Given the description of an element on the screen output the (x, y) to click on. 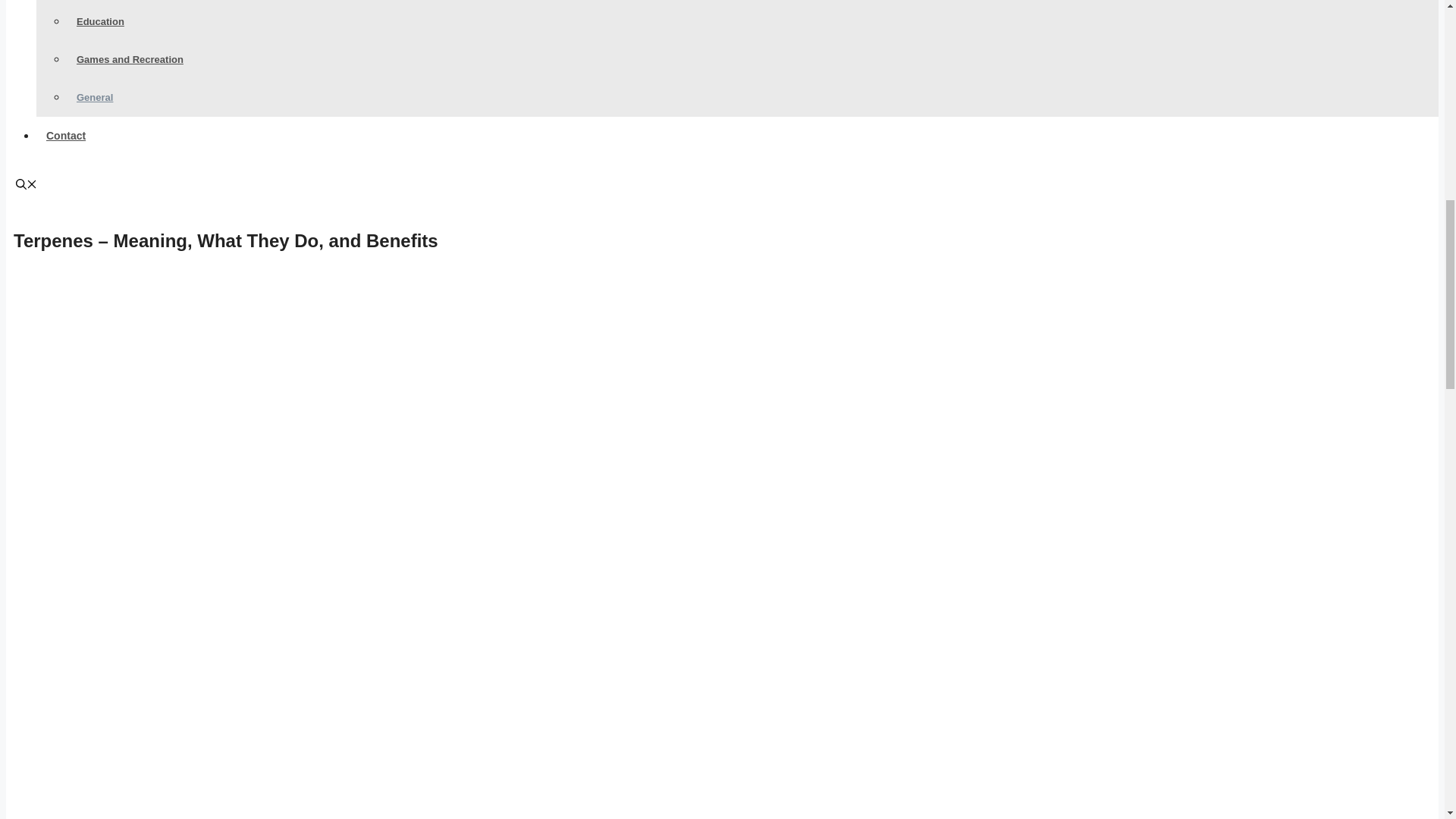
Contact (66, 135)
Games and Recreation (129, 58)
Education (99, 21)
General (94, 97)
